Given the description of an element on the screen output the (x, y) to click on. 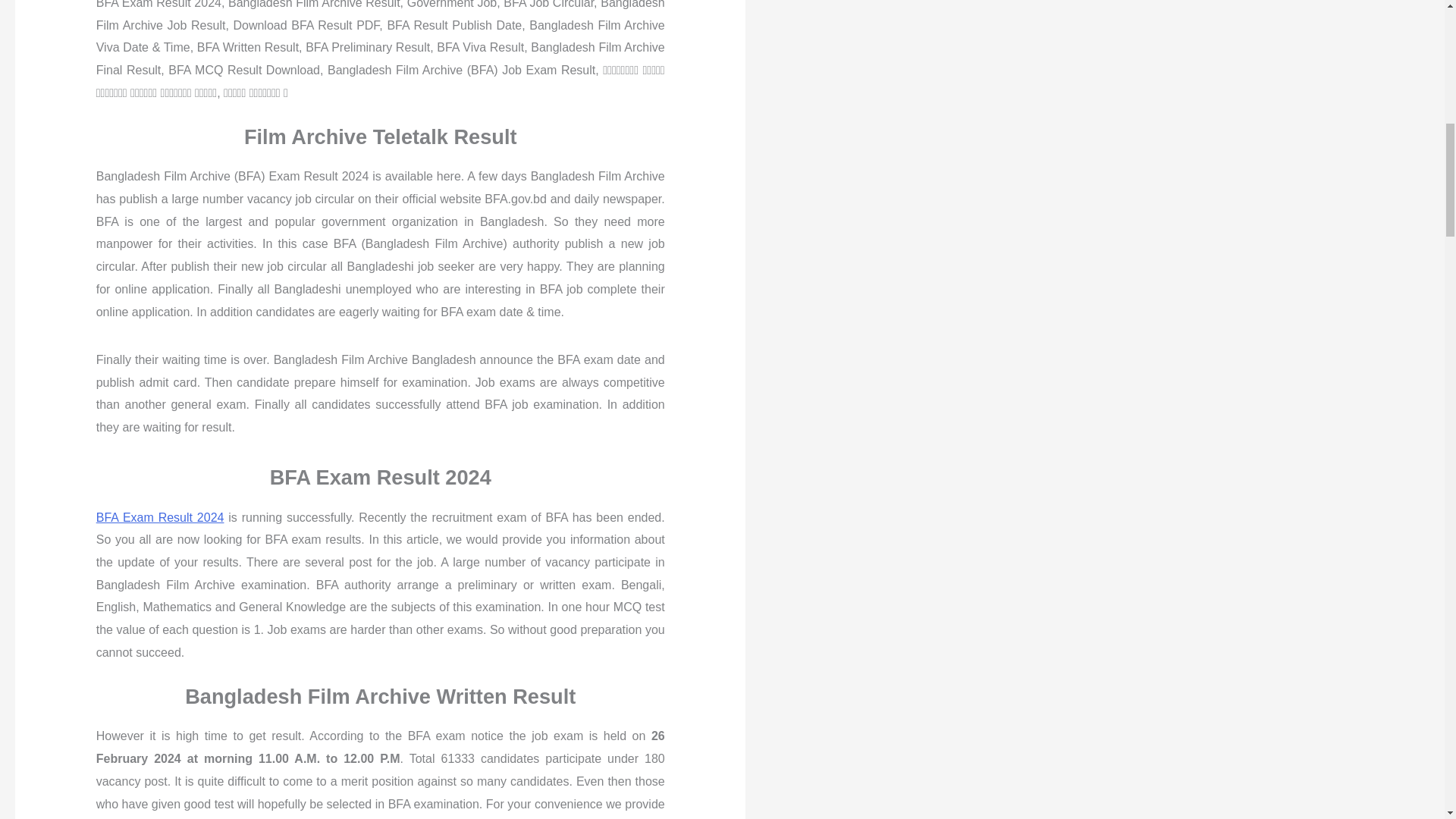
BFA Exam Result 2024 (160, 517)
